Given the description of an element on the screen output the (x, y) to click on. 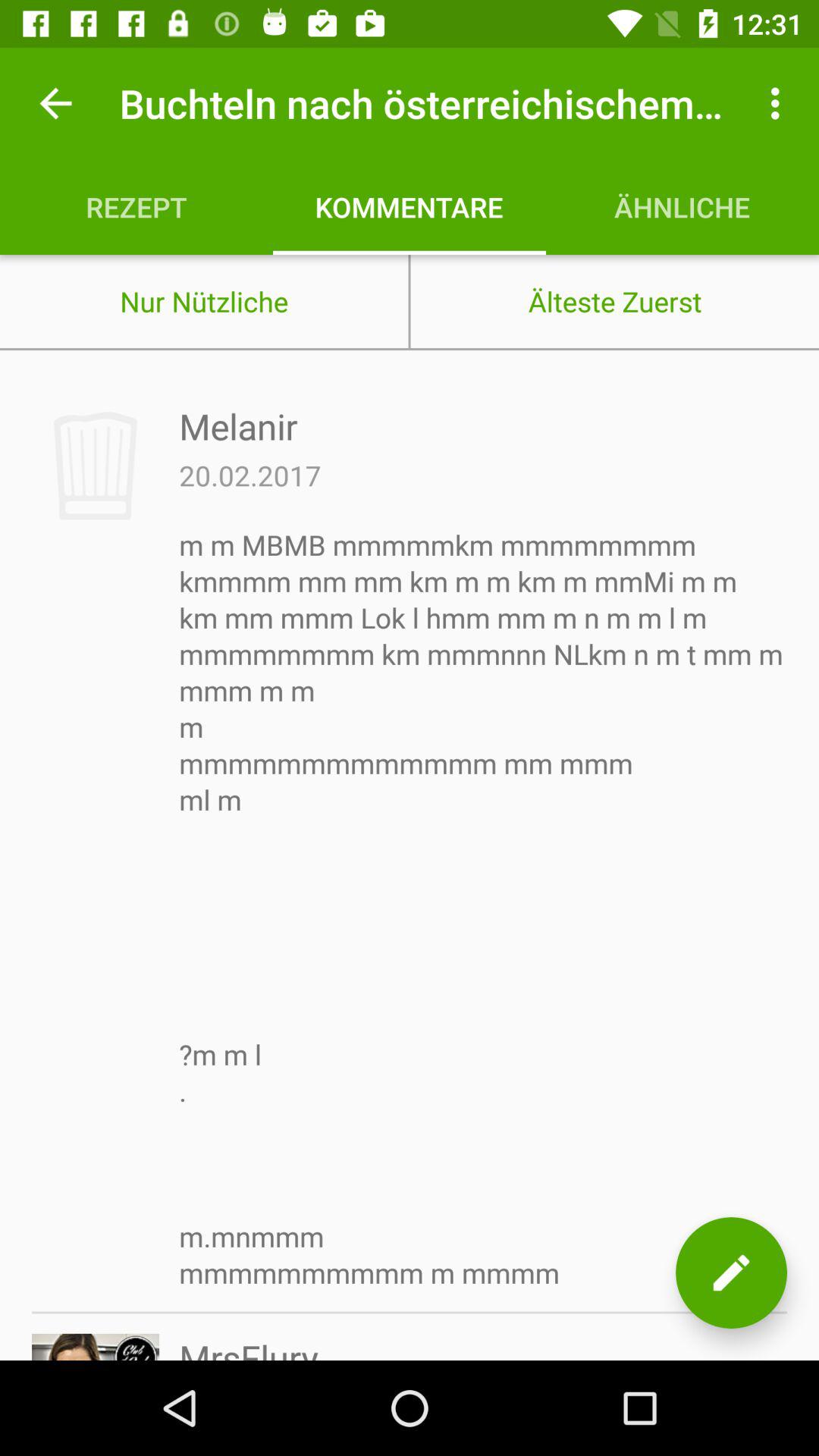
write your tesxt (731, 1272)
